Given the description of an element on the screen output the (x, y) to click on. 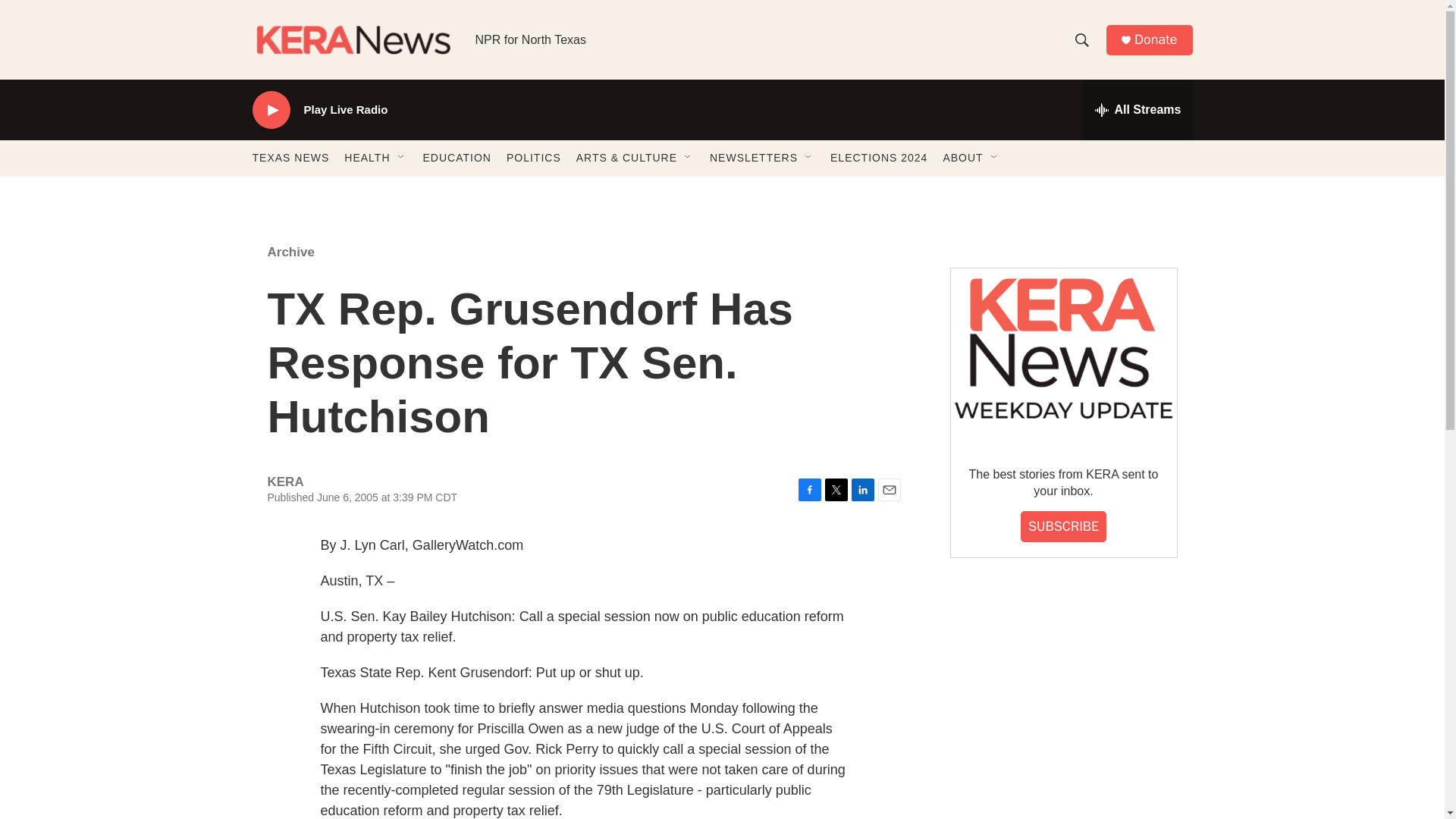
Show Search (1081, 39)
